Given the description of an element on the screen output the (x, y) to click on. 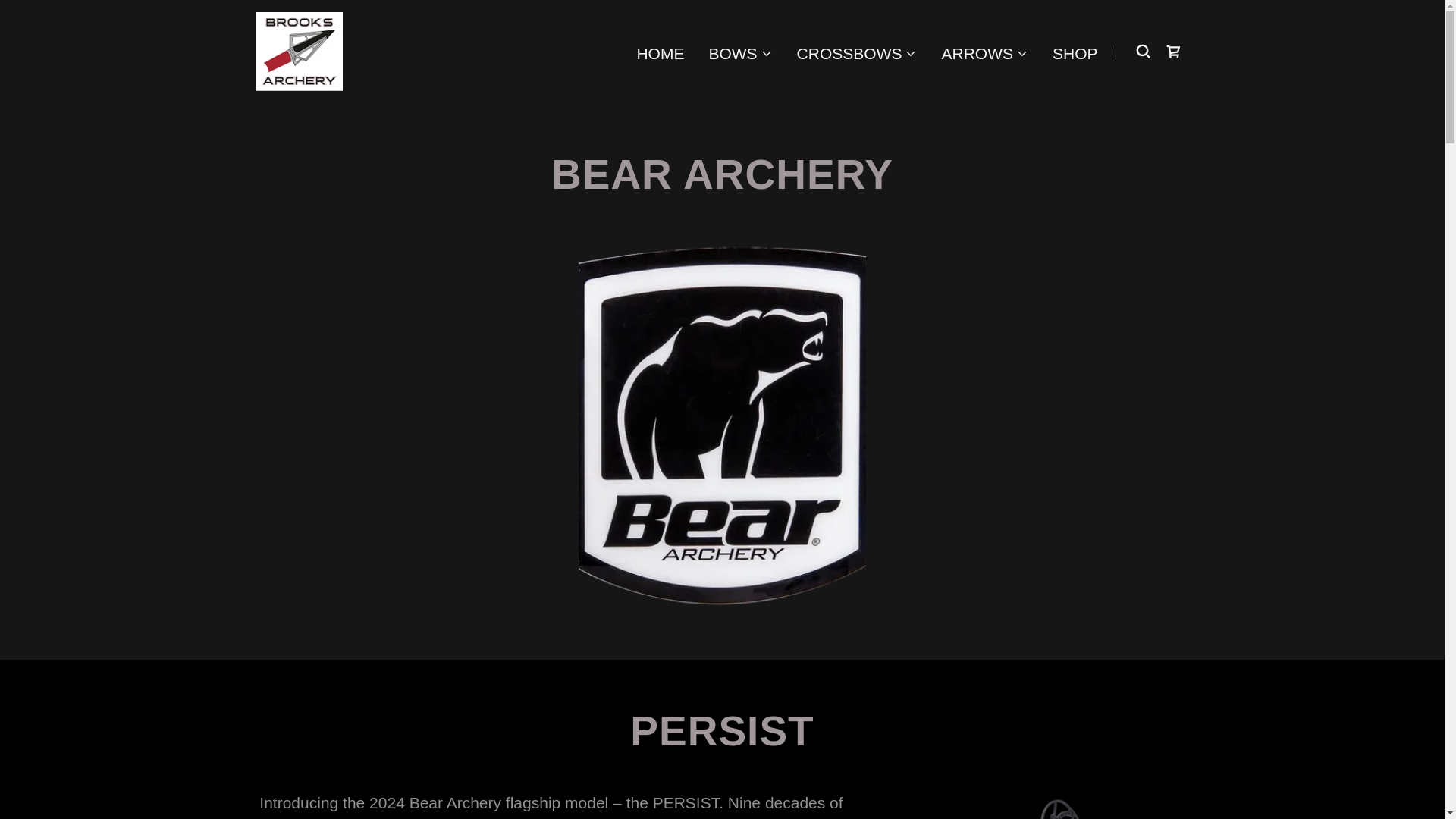
ARROWS (983, 53)
SHOP (1075, 52)
CROSSBOWS (856, 53)
HOME (659, 52)
BROOKS ARCHERY (298, 49)
BOWS (739, 53)
